Given the description of an element on the screen output the (x, y) to click on. 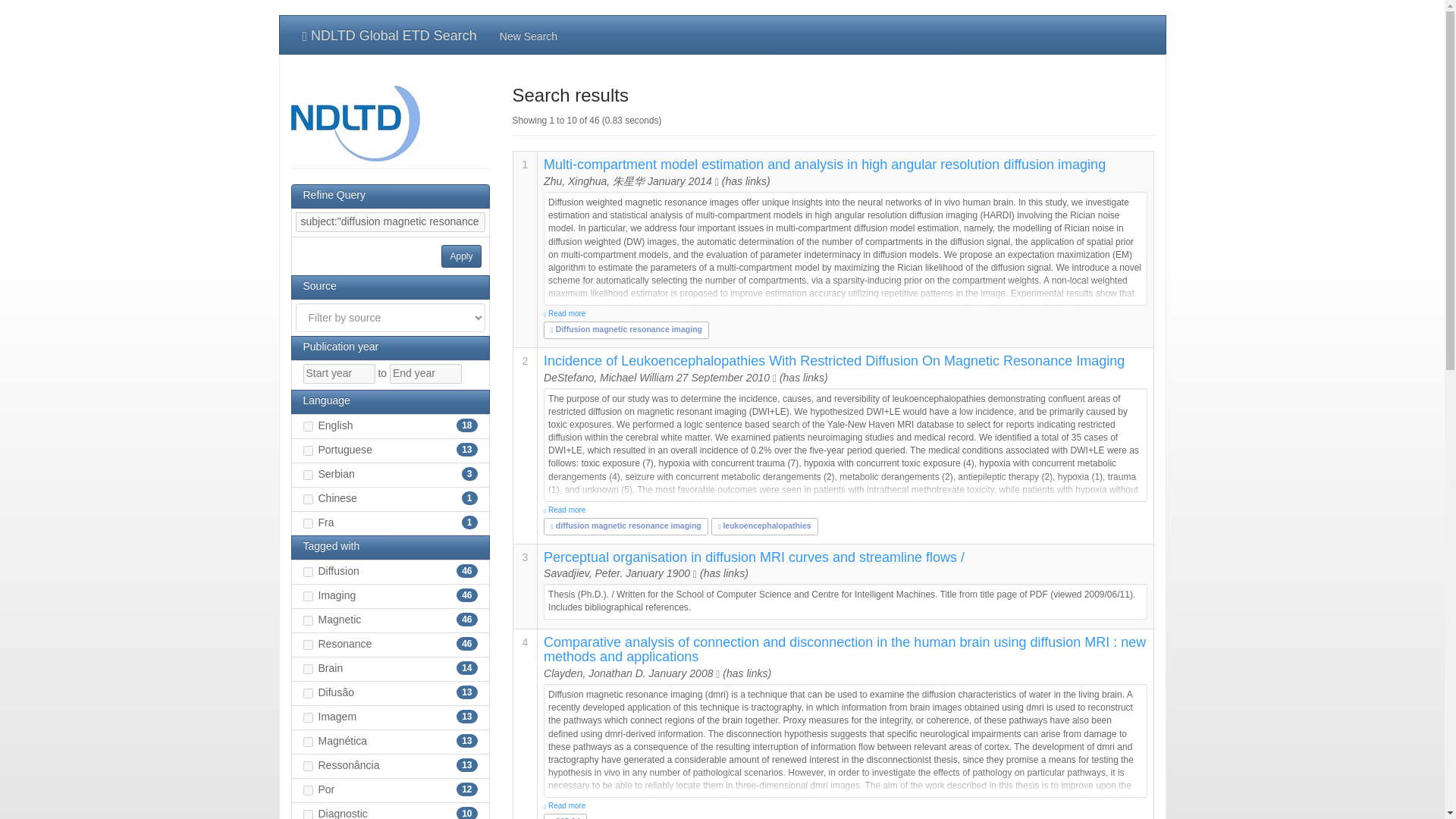
resonance (307, 644)
english (307, 426)
diagnostic (307, 814)
Apply (460, 255)
615.84 (564, 817)
fra (307, 523)
Read more (845, 510)
diffusion magnetic resonance imaging (625, 524)
serbian (307, 474)
diffusion (307, 572)
Read more (845, 313)
magnetic (307, 620)
imagem (307, 717)
Read more (845, 805)
subject:"diffusion magnetic resonance imaging" (389, 221)
